Given the description of an element on the screen output the (x, y) to click on. 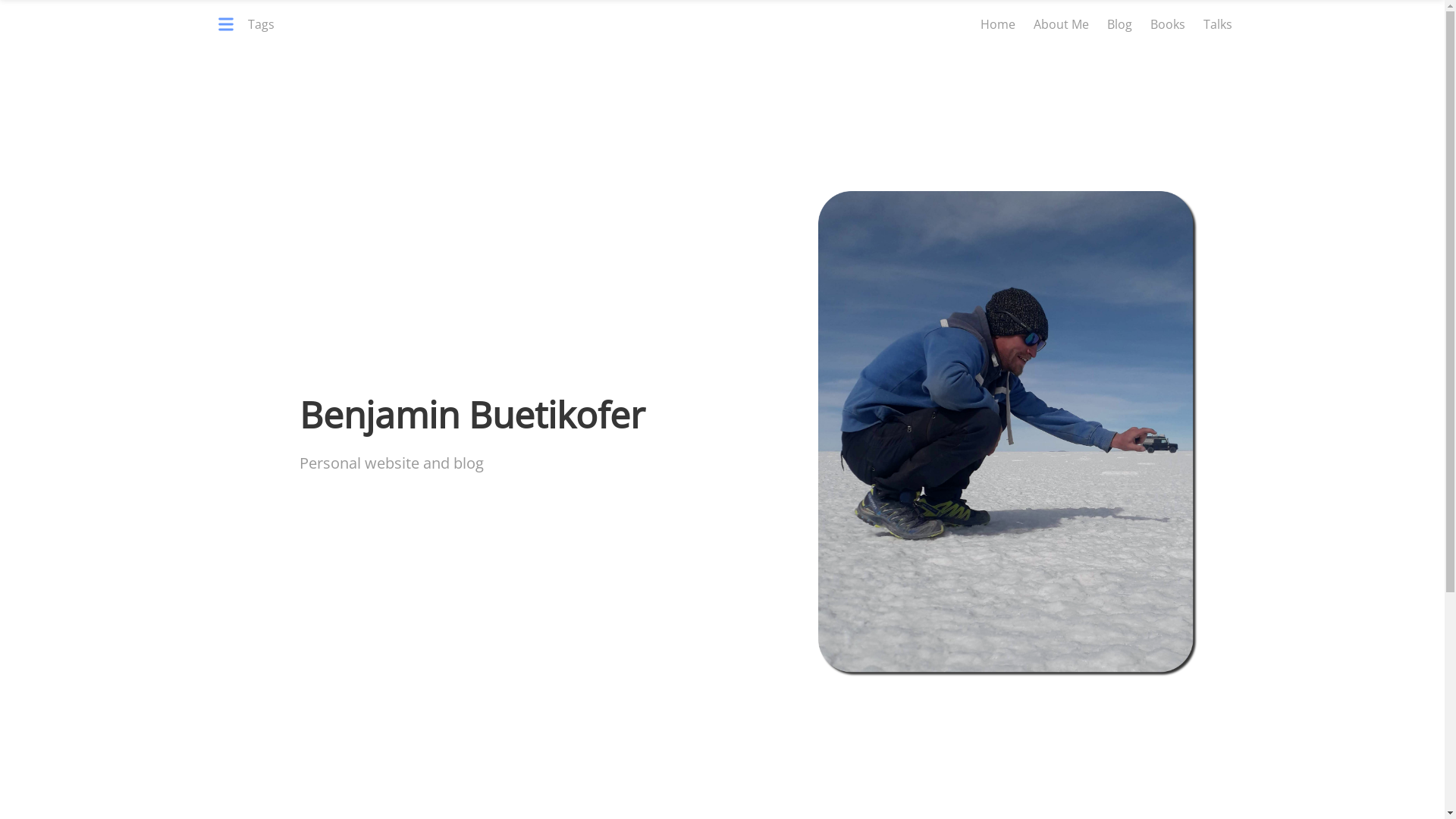
Talks Element type: text (1216, 24)
Tags Element type: text (247, 24)
Blog Element type: text (1119, 24)
About Me Element type: text (1060, 24)
Books Element type: text (1166, 24)
Home Element type: text (996, 24)
